Given the description of an element on the screen output the (x, y) to click on. 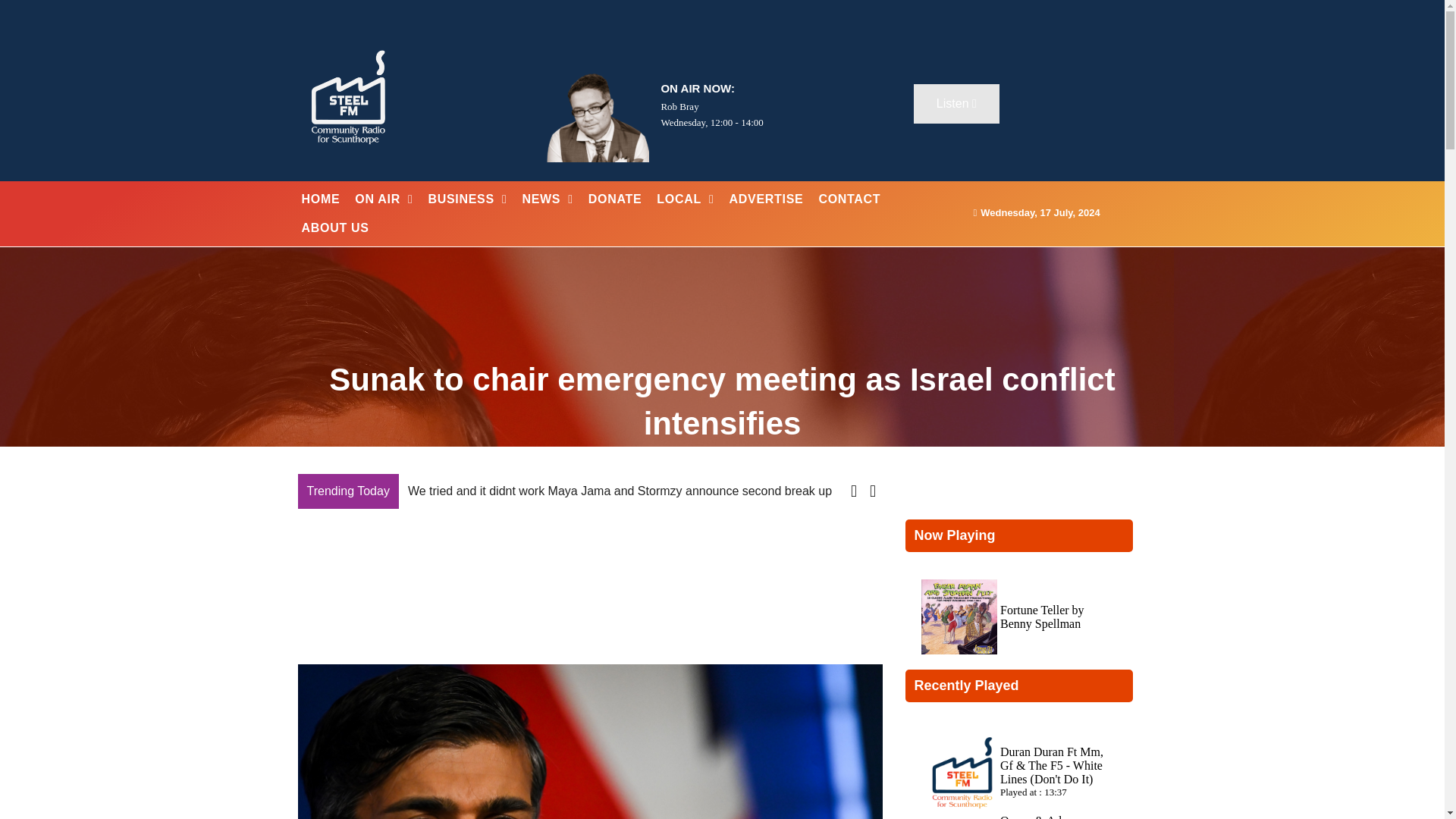
CONTACT (849, 199)
HOME (320, 199)
ADVERTISE (766, 199)
LOCAL (684, 199)
ABOUT US (335, 227)
DONATE (614, 199)
BUSINESS (466, 199)
ON AIR (383, 199)
NEWS (546, 199)
Listen (956, 103)
